Given the description of an element on the screen output the (x, y) to click on. 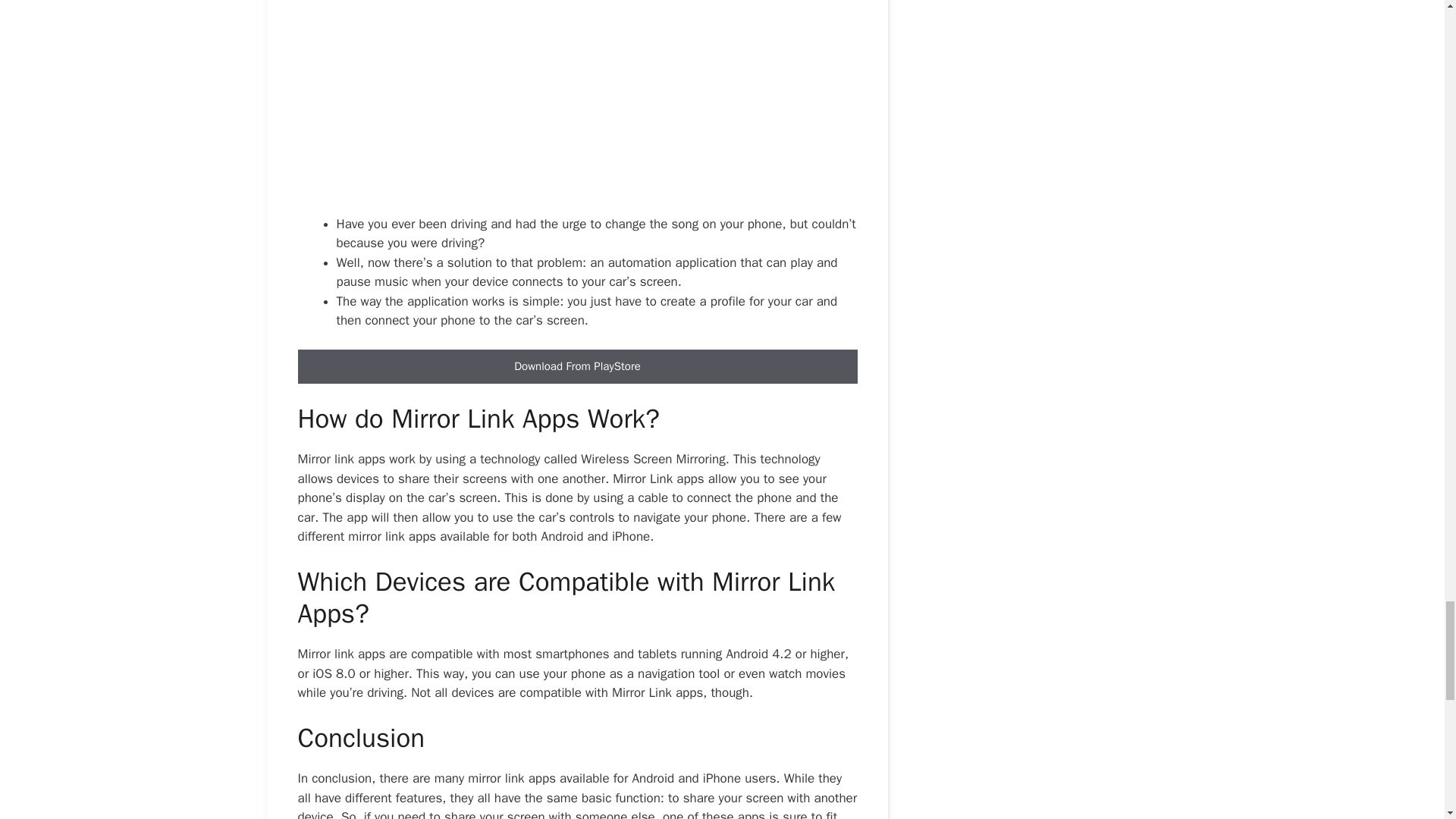
Download From PlayStore (577, 366)
Download From PlayStore (577, 365)
